Given the description of an element on the screen output the (x, y) to click on. 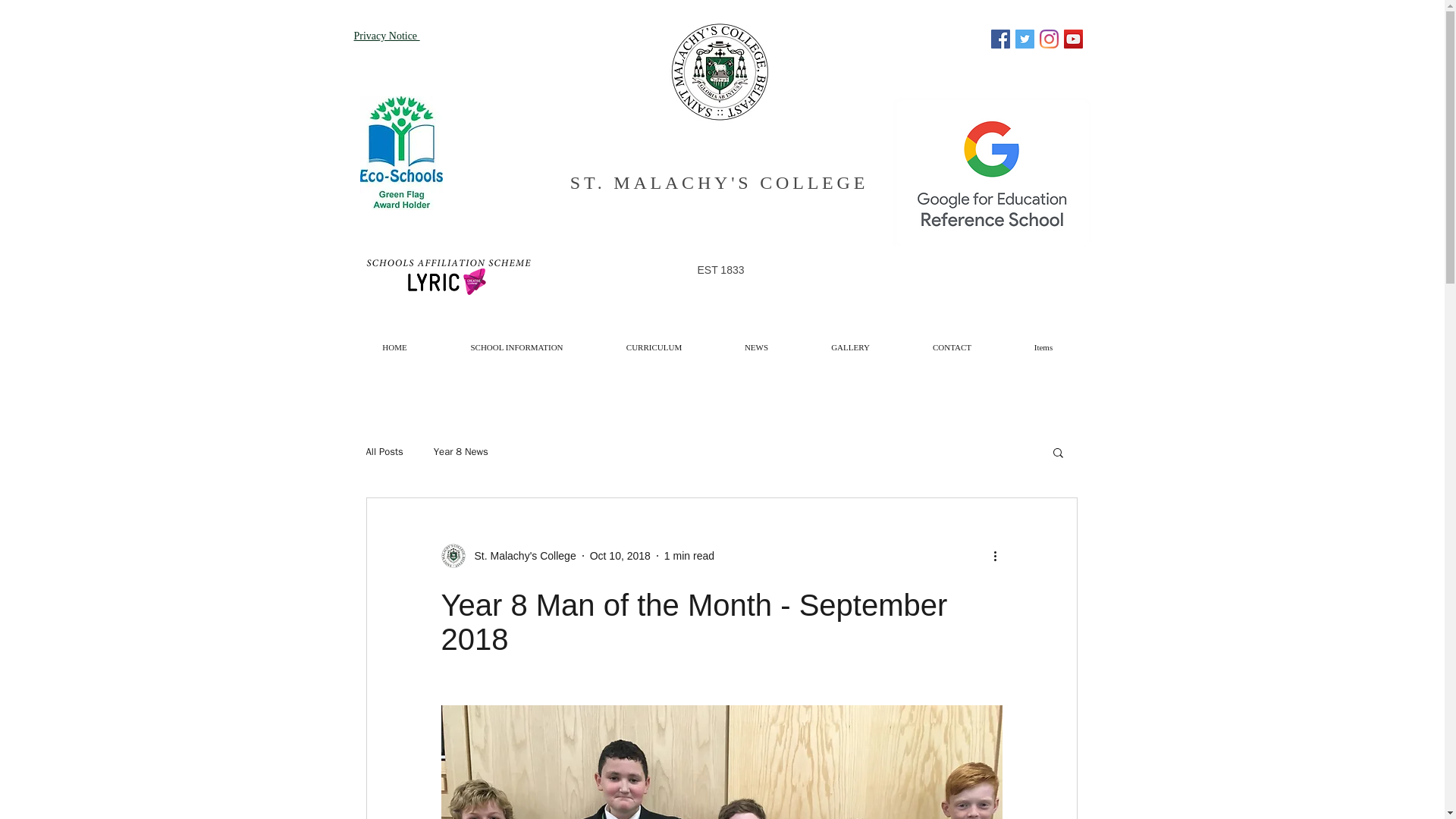
St. Malachy's College (520, 555)
1 min read (688, 554)
HOME (394, 340)
SMCB - Circle Crest.jpg (718, 71)
CURRICULUM (653, 340)
Oct 10, 2018 (619, 554)
SCHOOL INFORMATION (516, 340)
Privacy Notice  (386, 35)
